Given the description of an element on the screen output the (x, y) to click on. 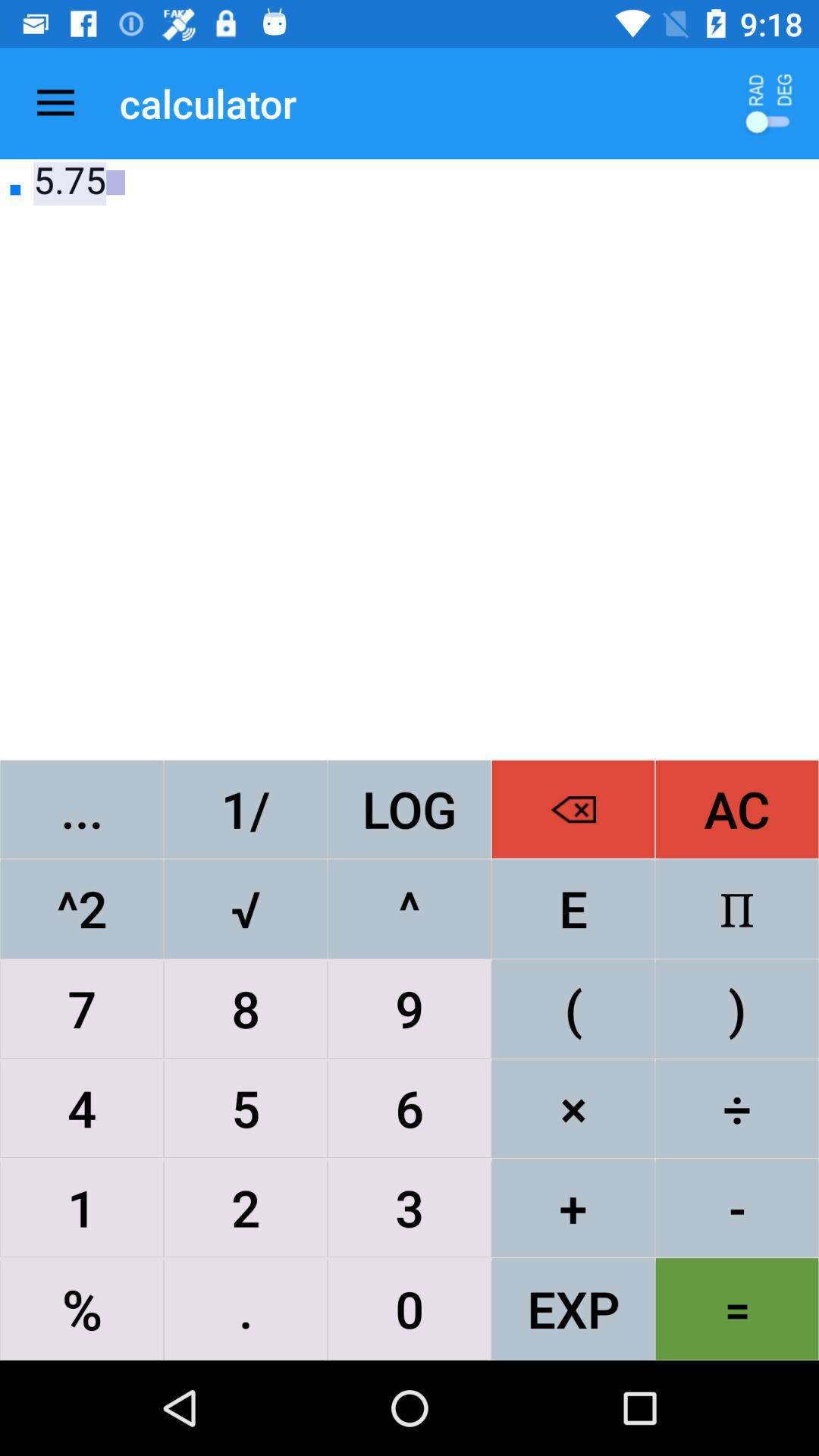
tap app to the left of the calculator icon (55, 103)
